Given the description of an element on the screen output the (x, y) to click on. 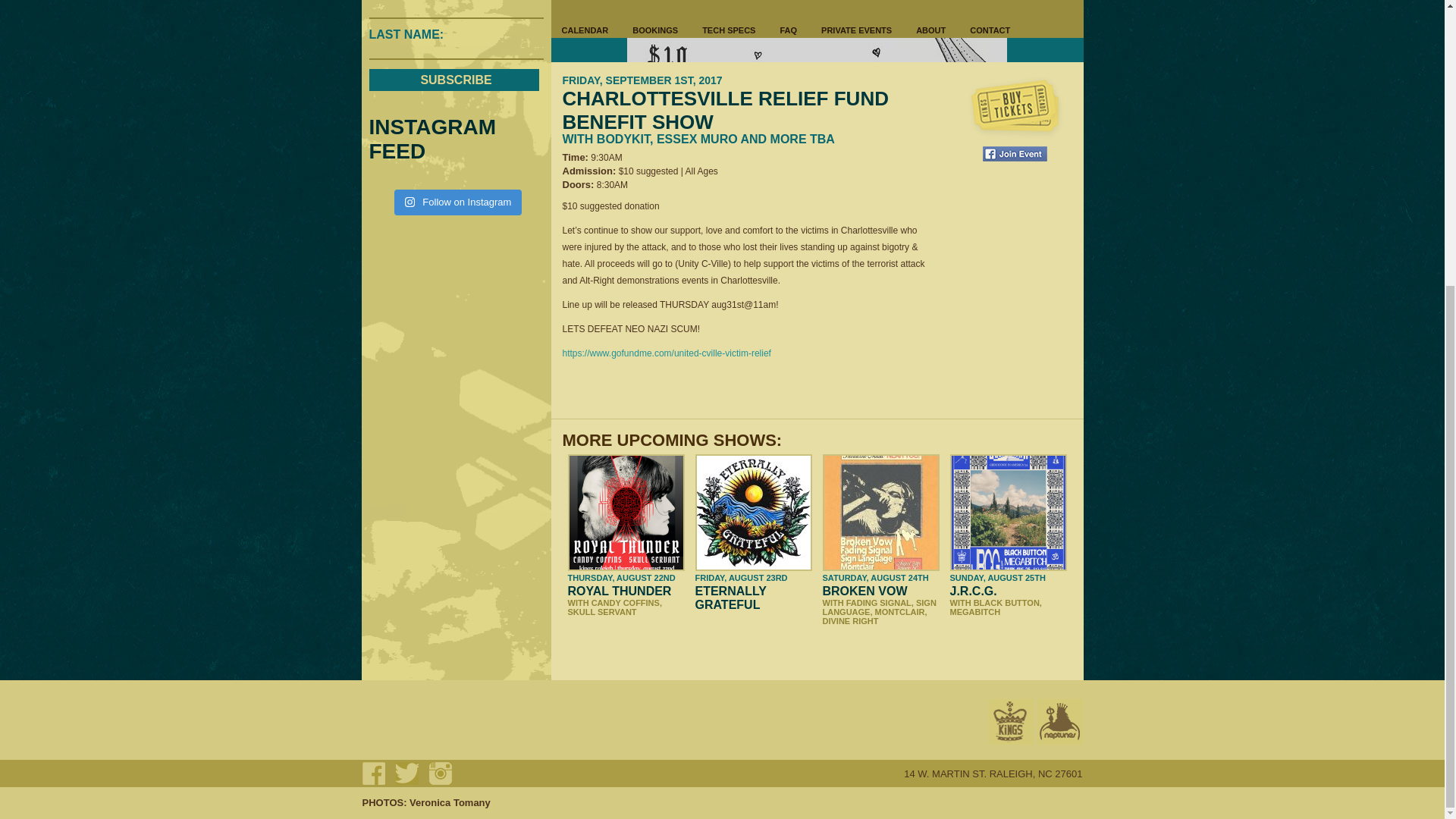
King's on Twitter (407, 773)
ETERNALLY GRATEFUL (729, 597)
Follow on Instagram (458, 202)
ROYAL THUNDER (619, 590)
Neptune's Parlour (1059, 721)
King's (1009, 721)
King's on Facebook (373, 773)
Buy Tickets (1014, 107)
Subscribe (453, 79)
King's on Instagram (440, 773)
